Given the description of an element on the screen output the (x, y) to click on. 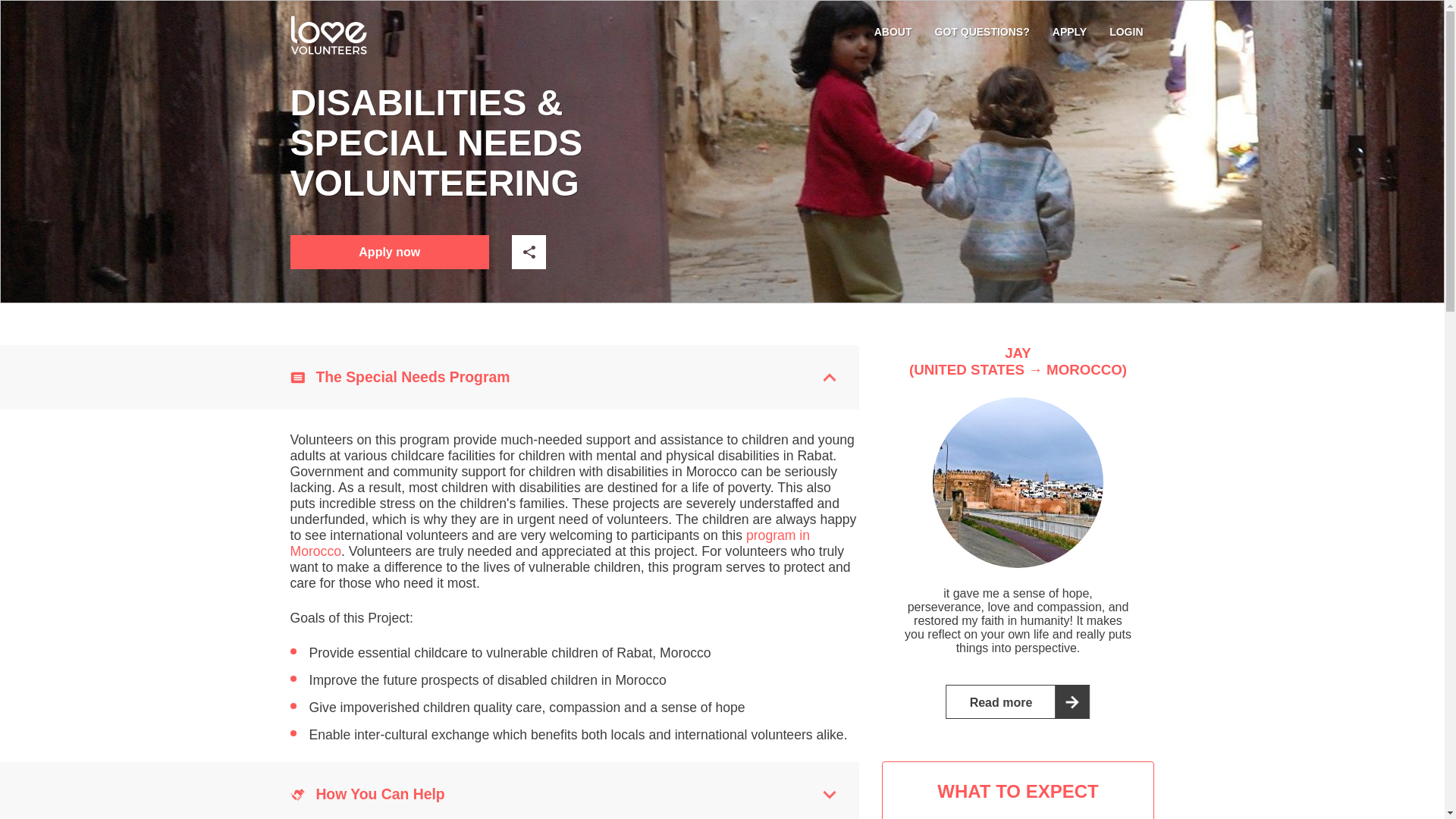
APPLY (1069, 31)
ABOUT (893, 31)
Read more (1018, 701)
GOT QUESTIONS? (981, 31)
program in Morocco (549, 542)
LOGIN (1125, 31)
Apply now (389, 252)
